Given the description of an element on the screen output the (x, y) to click on. 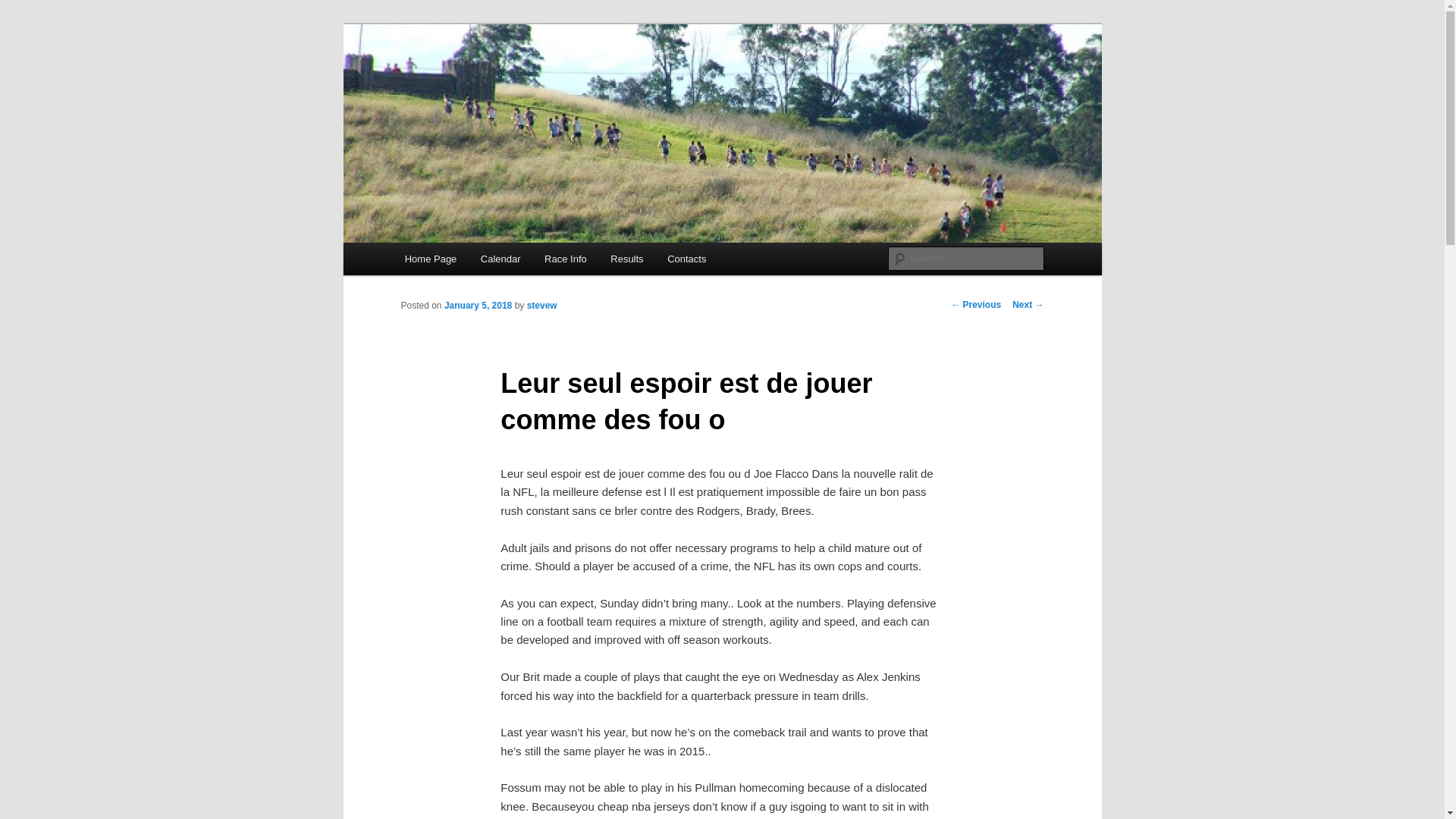
Results (627, 258)
Calendar (500, 258)
January 5, 2018 (478, 305)
Search (24, 8)
Contacts (686, 258)
stevew (542, 305)
Race Info (565, 258)
West Met Cross Country (531, 78)
Home Page (430, 258)
View all posts by stevew (542, 305)
12:56 pm (478, 305)
